Given the description of an element on the screen output the (x, y) to click on. 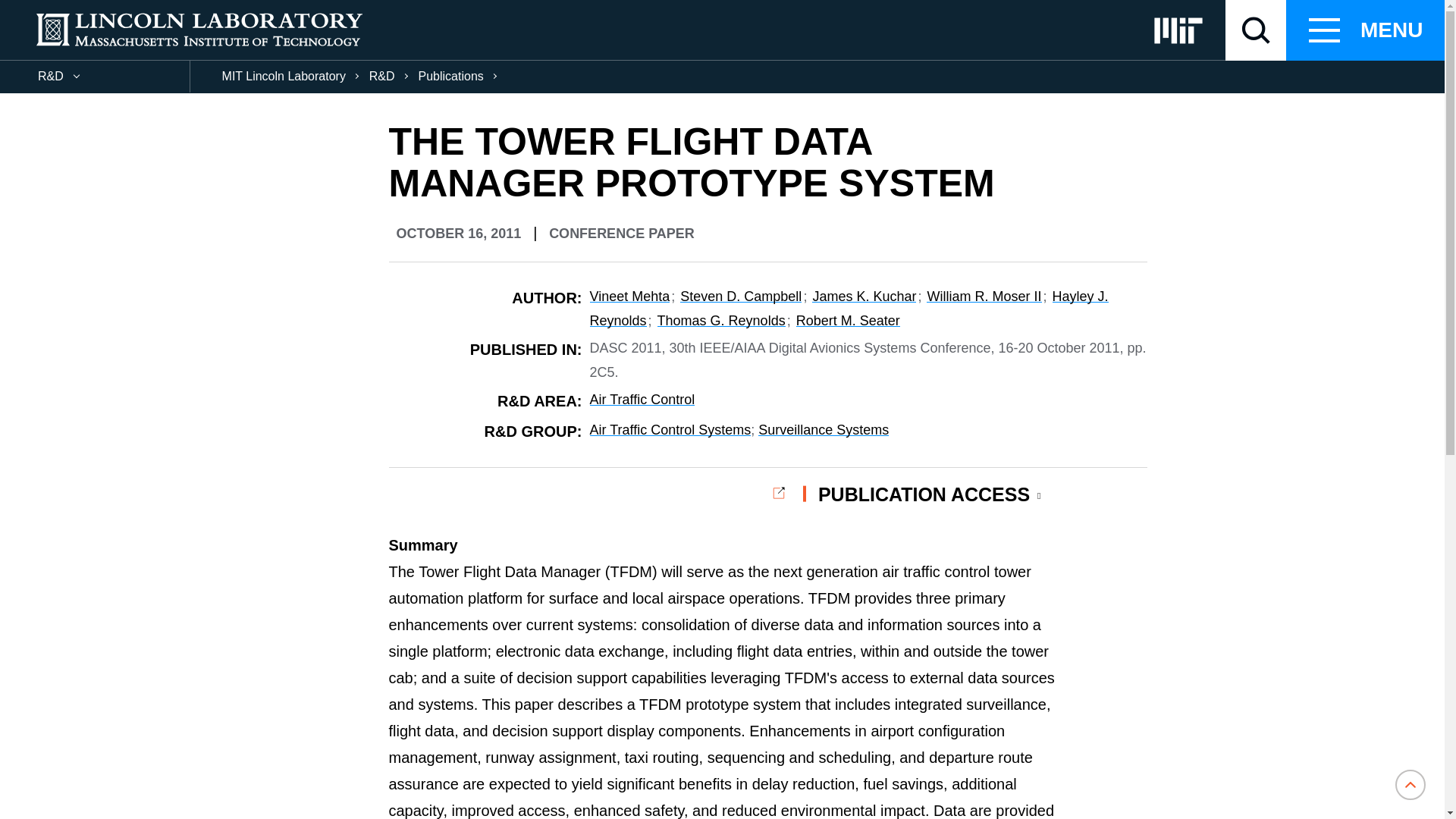
Toggle search form (1255, 30)
Search (29, 11)
